Given the description of an element on the screen output the (x, y) to click on. 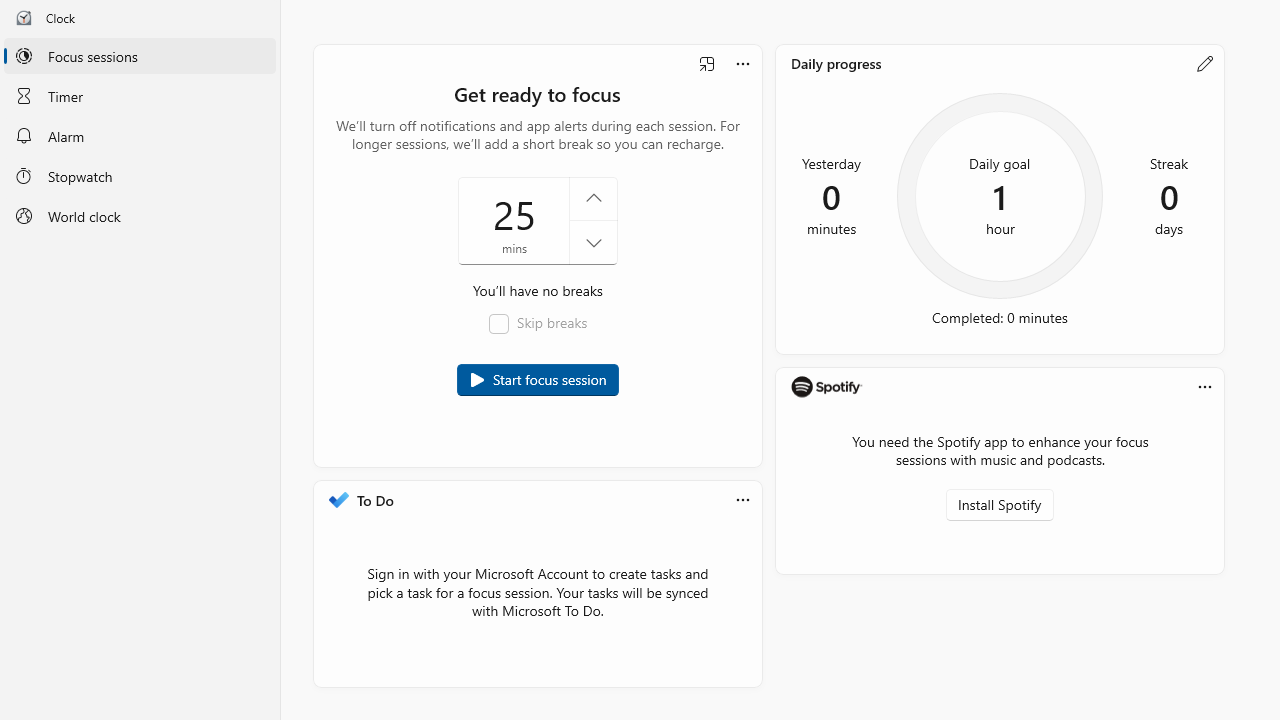
Start focus session (537, 380)
Install Spotify (999, 504)
Duration of focus session in minutes (538, 220)
Skip breaks (537, 323)
Increase the focus session time (593, 199)
Timer (139, 95)
See more (1205, 386)
AutomationID: FullNumberBox (538, 220)
Decrease the focus session time (593, 242)
Alarm (139, 136)
Focus sessions (139, 56)
Stopwatch (139, 175)
World clock (139, 216)
Edit your daily goal (1205, 63)
Keep on top (707, 63)
